Given the description of an element on the screen output the (x, y) to click on. 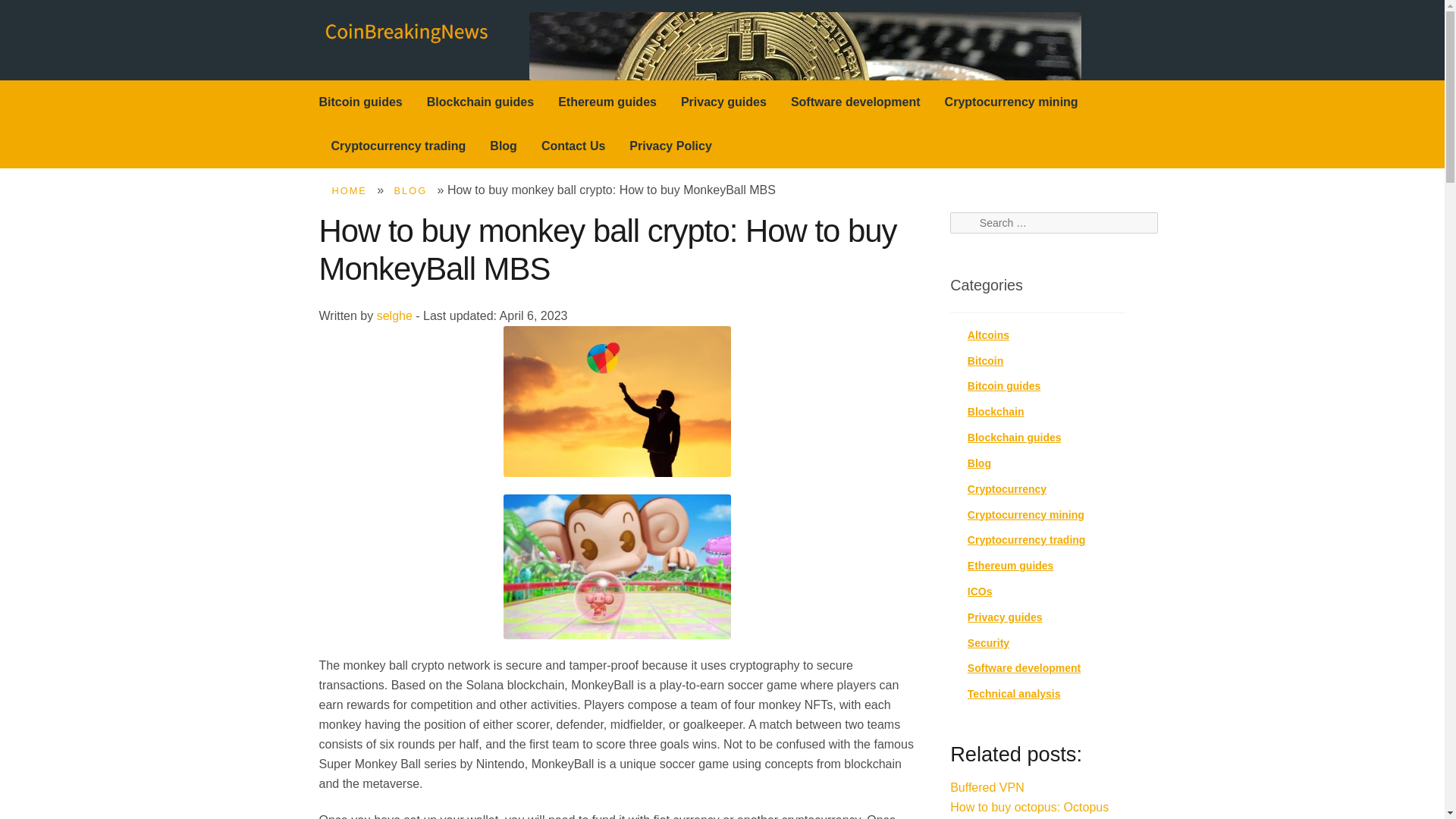
Search (972, 223)
Blockchain (996, 411)
Privacy Policy (670, 146)
Cryptocurrency mining (1026, 514)
Buffered VPN (987, 787)
Software development (855, 102)
selghe (394, 315)
ICOs (980, 591)
Buffered VPN (987, 787)
